Given the description of an element on the screen output the (x, y) to click on. 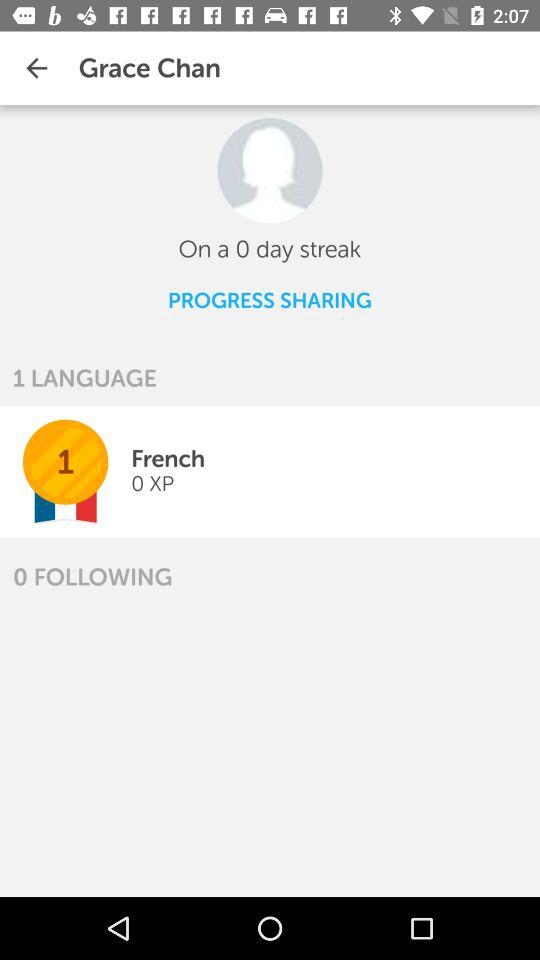
swipe until french item (168, 458)
